Given the description of an element on the screen output the (x, y) to click on. 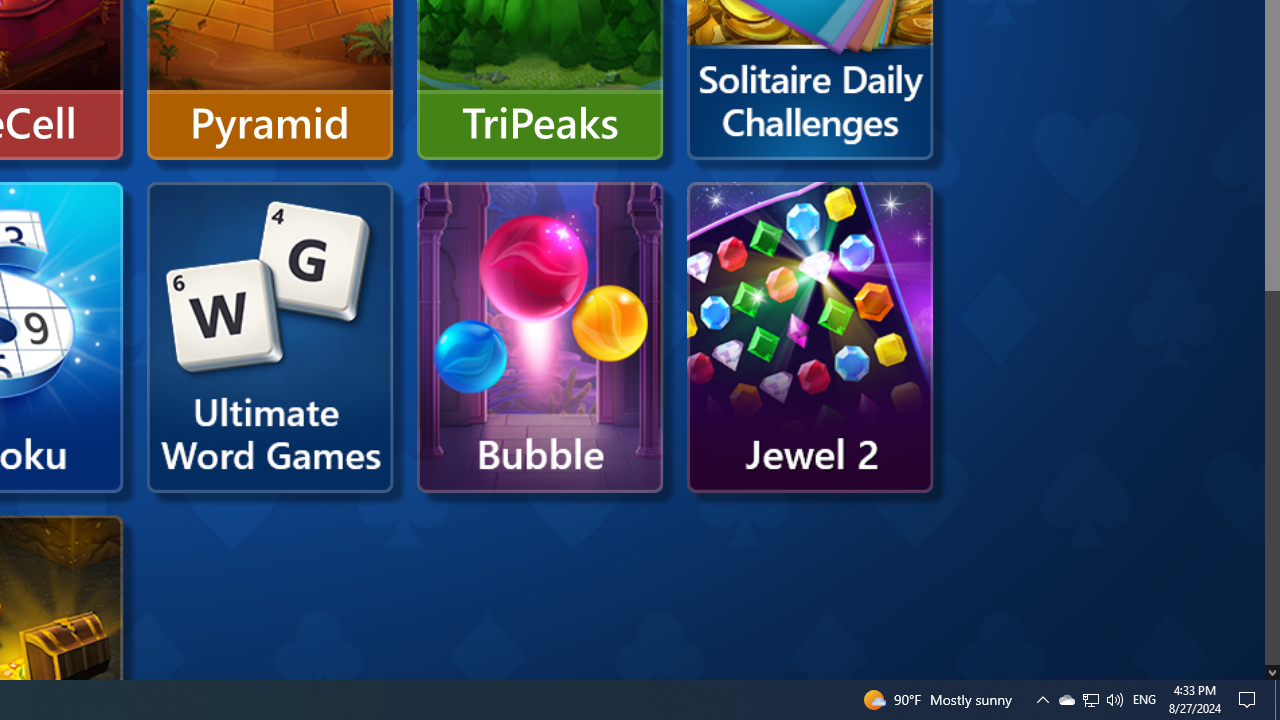
AutomationID: down_arrow_0 (1272, 672)
Tray Input Indicator - English (United States) (1144, 699)
Microsoft UWG (269, 337)
Microsoft Jewel 2 (810, 337)
Microsoft Bubble (540, 337)
